Given the description of an element on the screen output the (x, y) to click on. 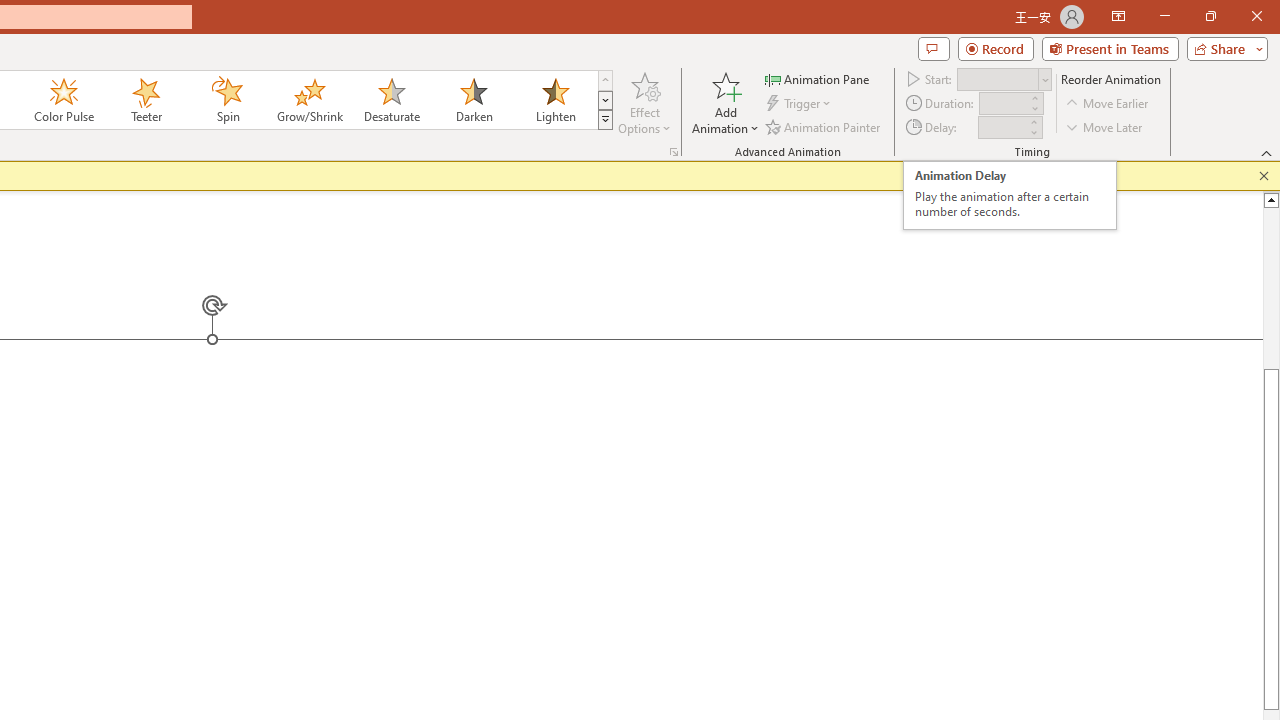
Animation Styles (605, 120)
More Options... (673, 151)
Lighten (555, 100)
